Given the description of an element on the screen output the (x, y) to click on. 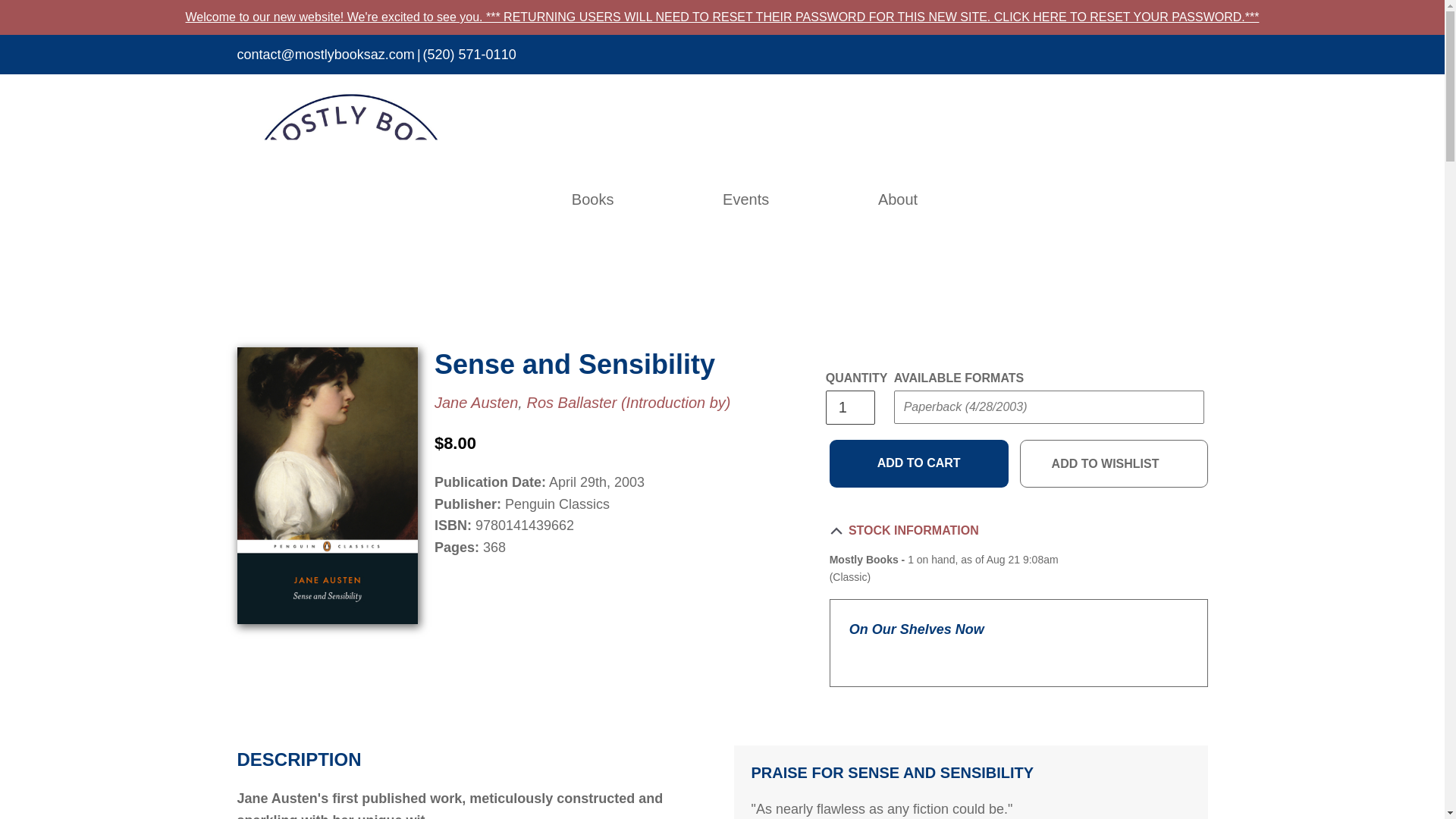
Cart (1200, 199)
Connect with Instagram (1198, 58)
SEARCH (1101, 199)
Search (1101, 199)
Connect with Facebook (1165, 58)
Cart (1200, 199)
Wishlists (1166, 199)
Submit (922, 437)
Add to cart (919, 463)
Add to cart (919, 463)
